Given the description of an element on the screen output the (x, y) to click on. 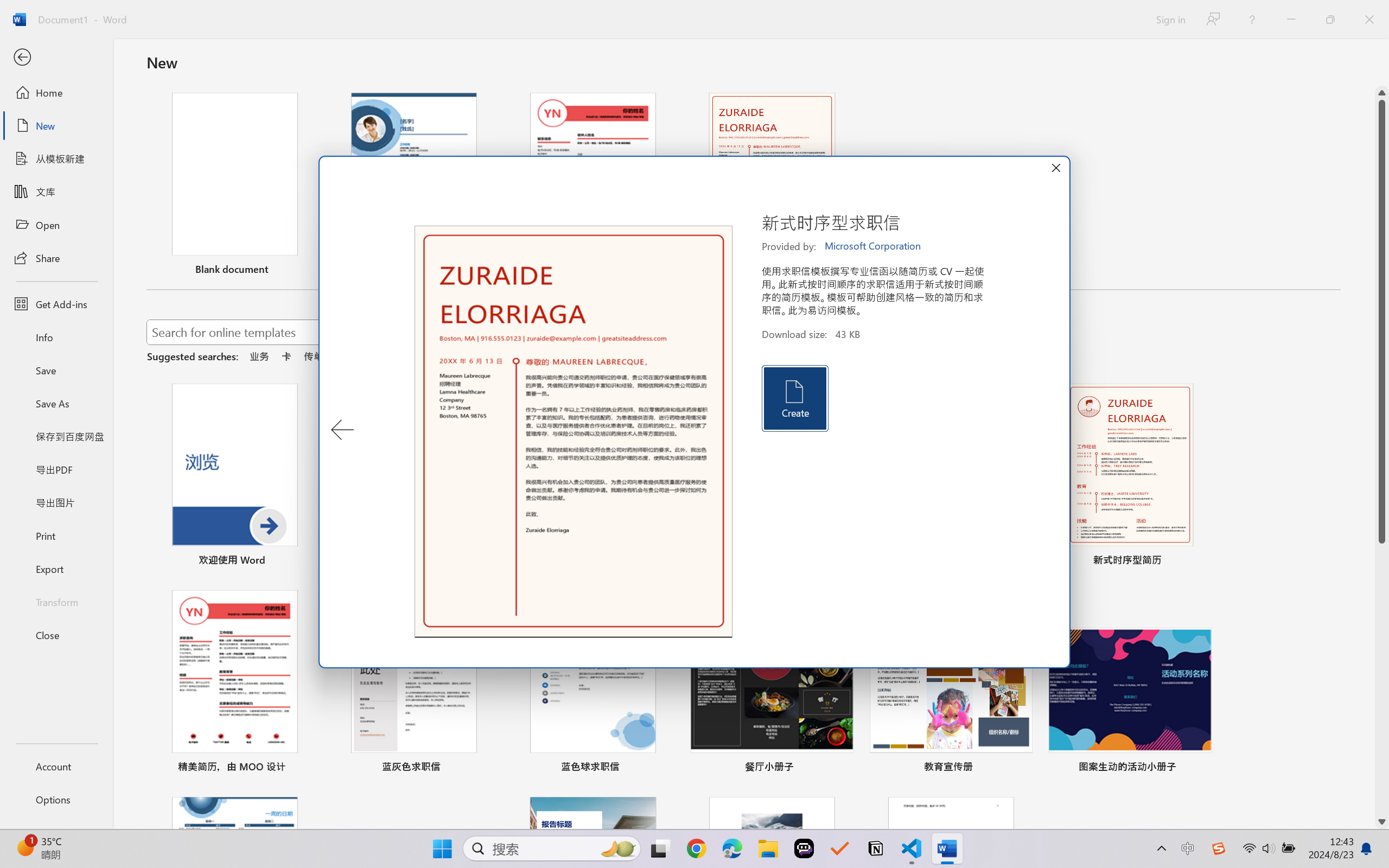
Get Add-ins (56, 303)
Pin to list (1200, 767)
